Given the description of an element on the screen output the (x, y) to click on. 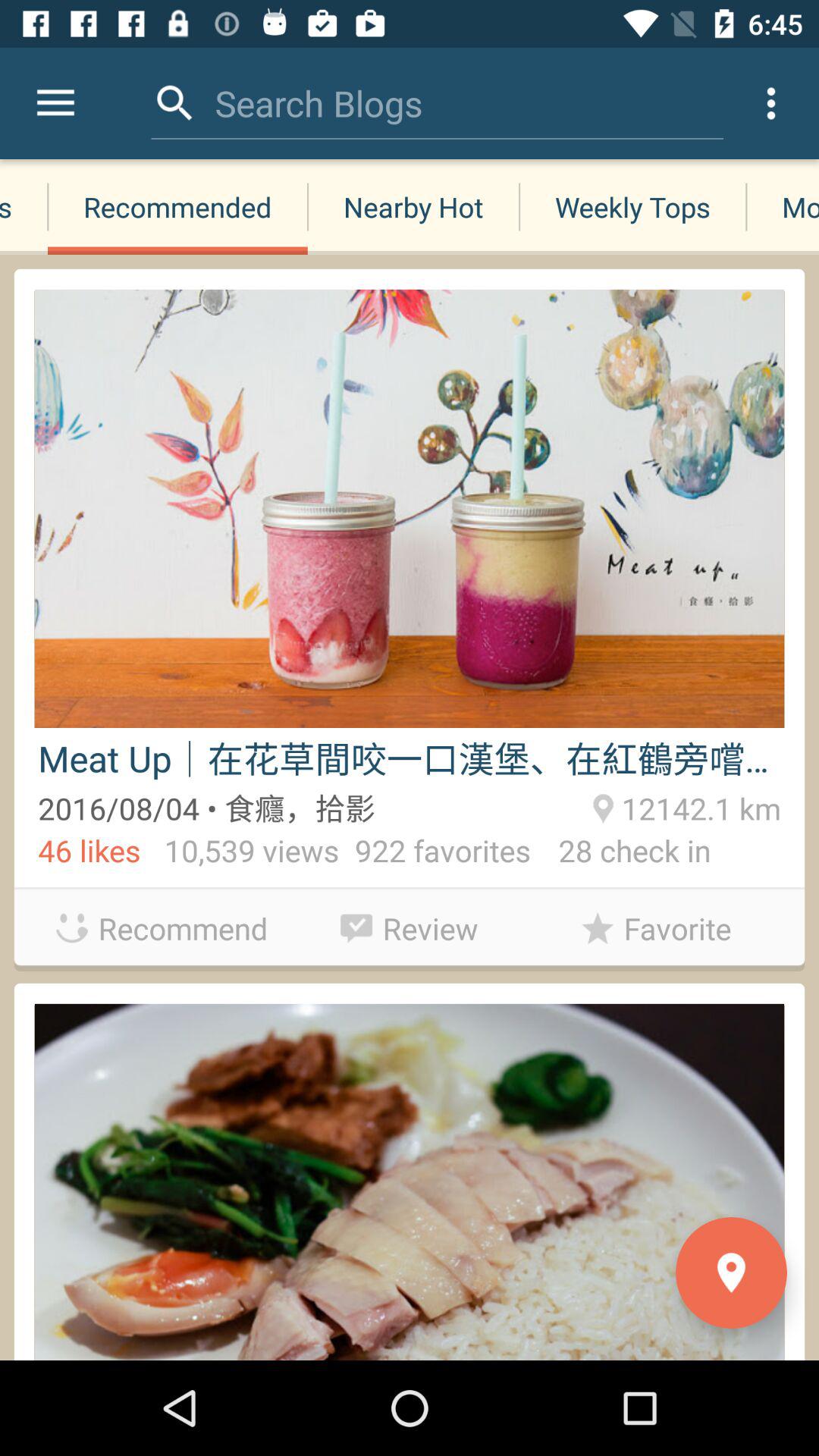
choose icon next to the nearby hot (177, 206)
